Given the description of an element on the screen output the (x, y) to click on. 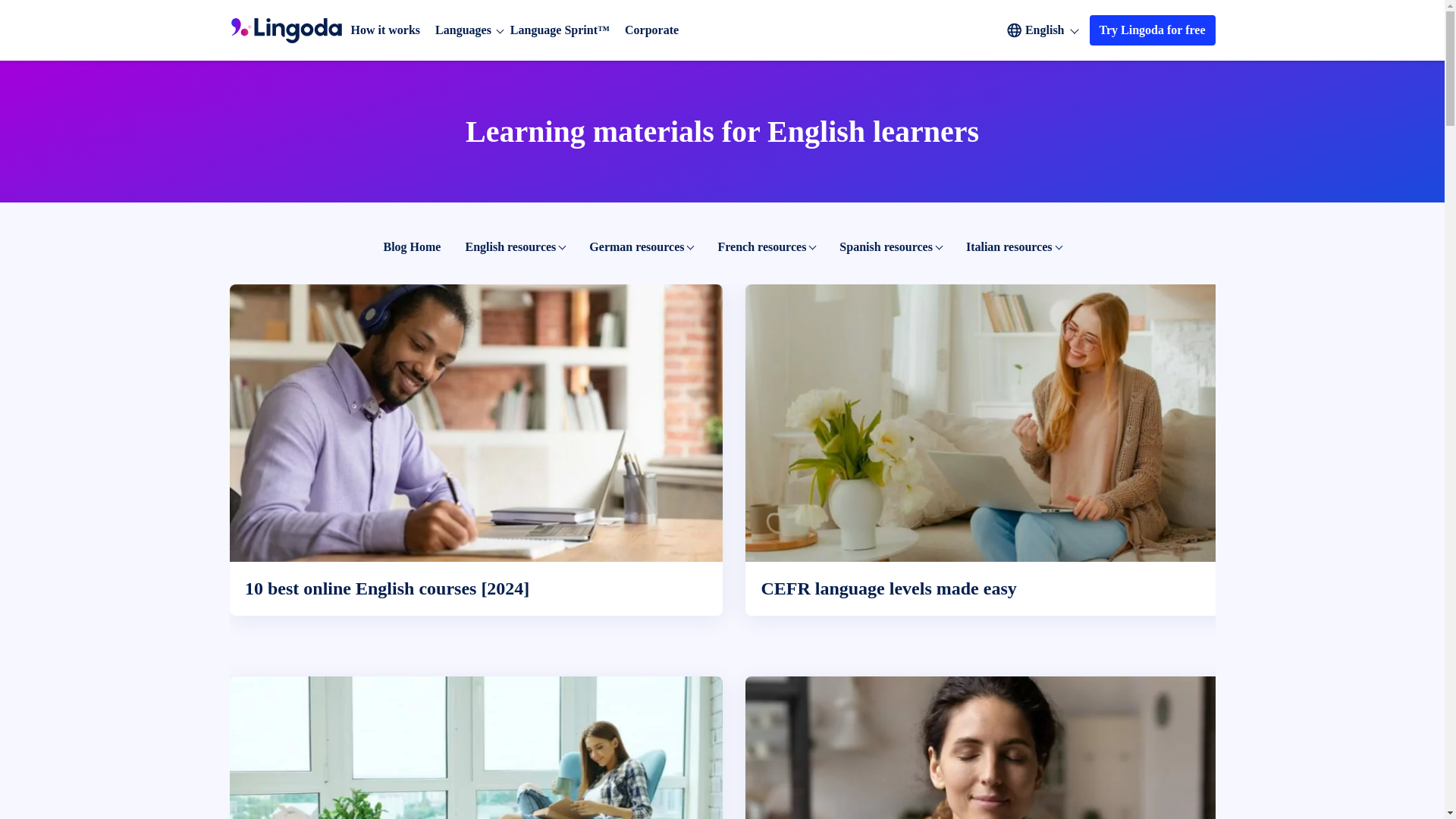
Corporate (651, 29)
Languages (463, 29)
How it works (385, 29)
Try Lingoda for free (1152, 30)
